Given the description of an element on the screen output the (x, y) to click on. 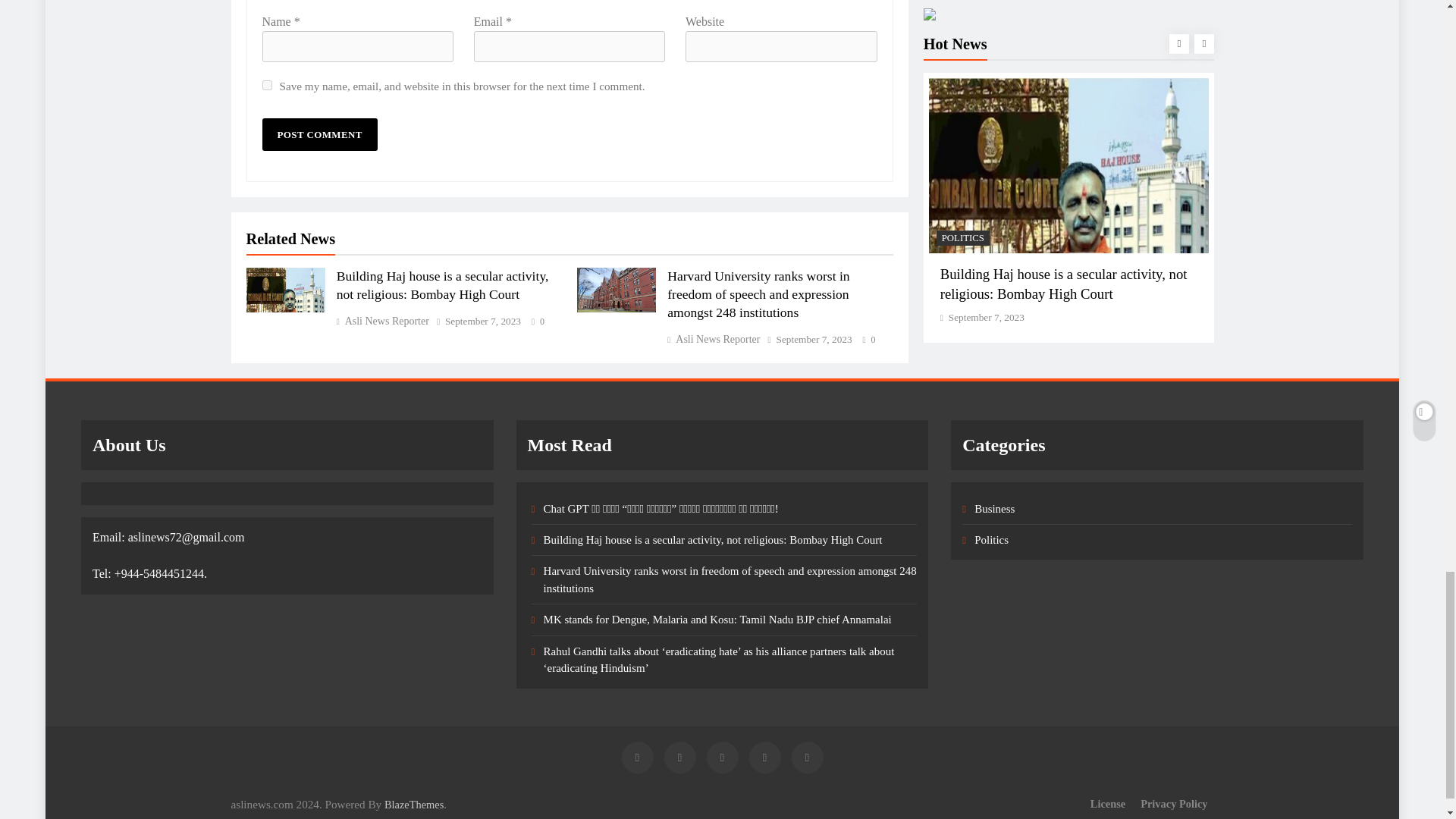
Post Comment (319, 133)
yes (267, 85)
